Given the description of an element on the screen output the (x, y) to click on. 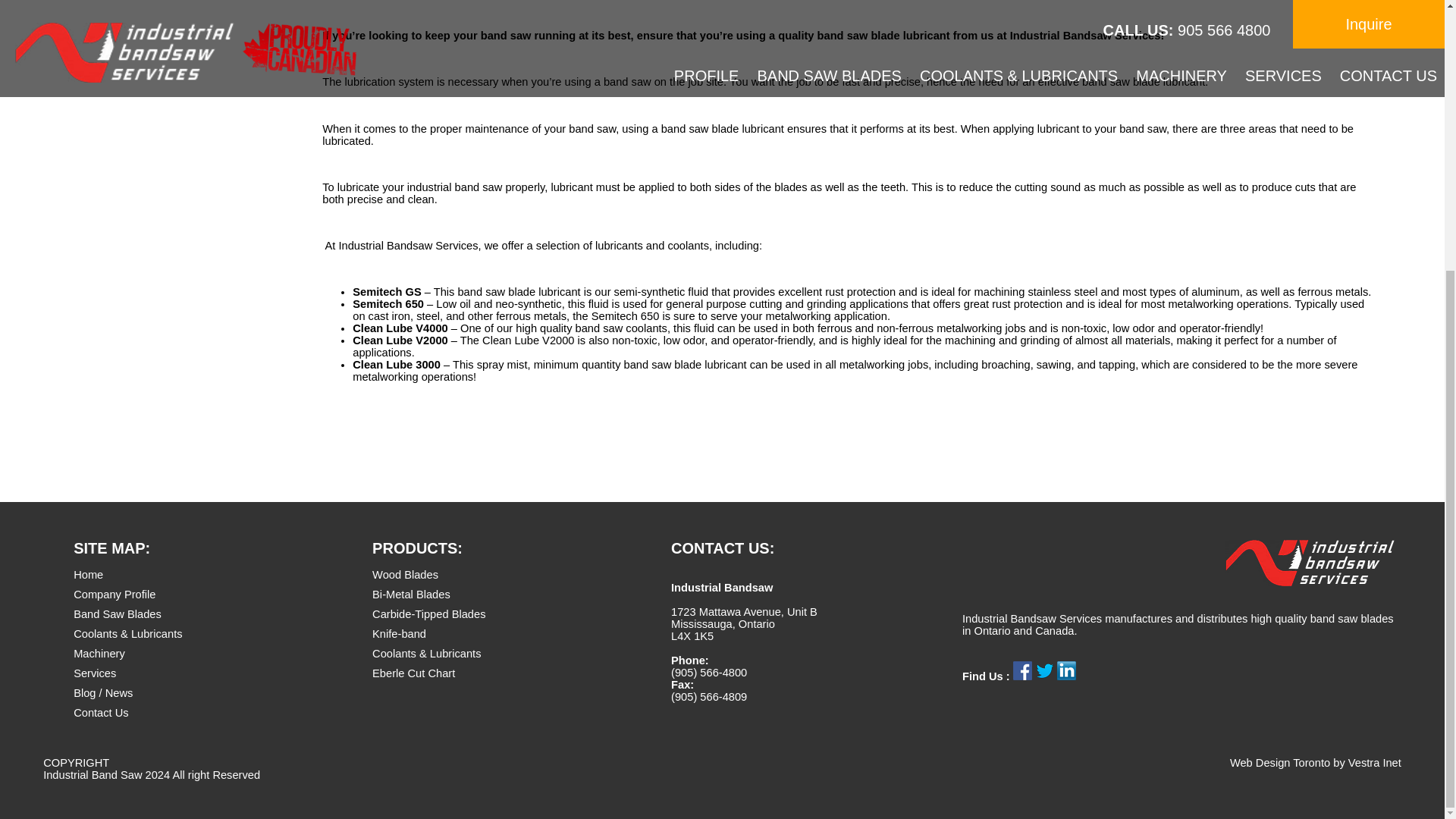
Company Profile (114, 594)
Bi-Metal Blades (410, 594)
Band Saw Blades (117, 613)
Web Design Toronto (1280, 762)
Home (88, 574)
Knife-band (399, 633)
Eberle Cut Chart (413, 673)
Wood Blades (405, 574)
Vestrainet (1280, 762)
Services (95, 673)
